Given the description of an element on the screen output the (x, y) to click on. 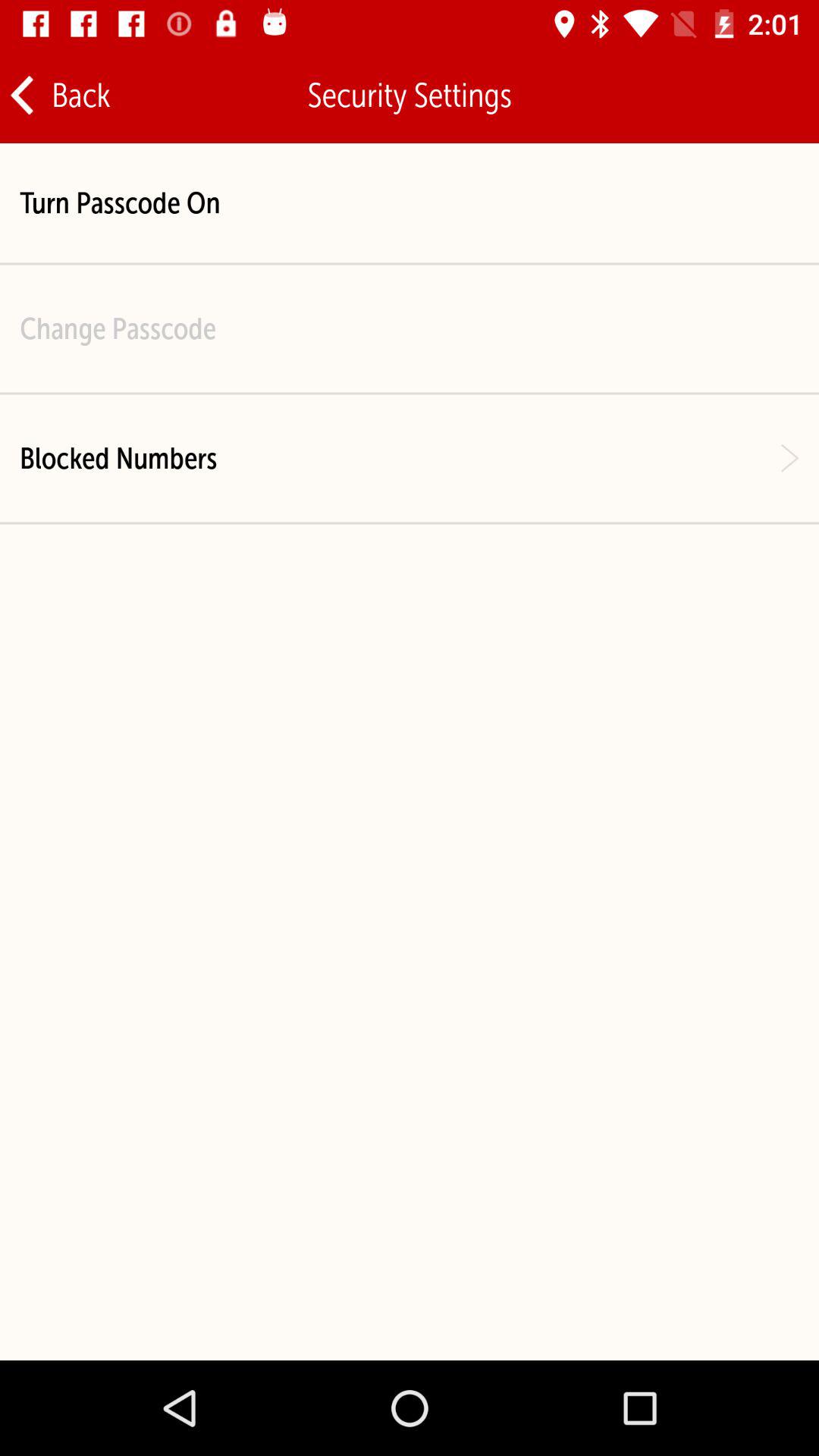
press blocked numbers item (118, 458)
